Given the description of an element on the screen output the (x, y) to click on. 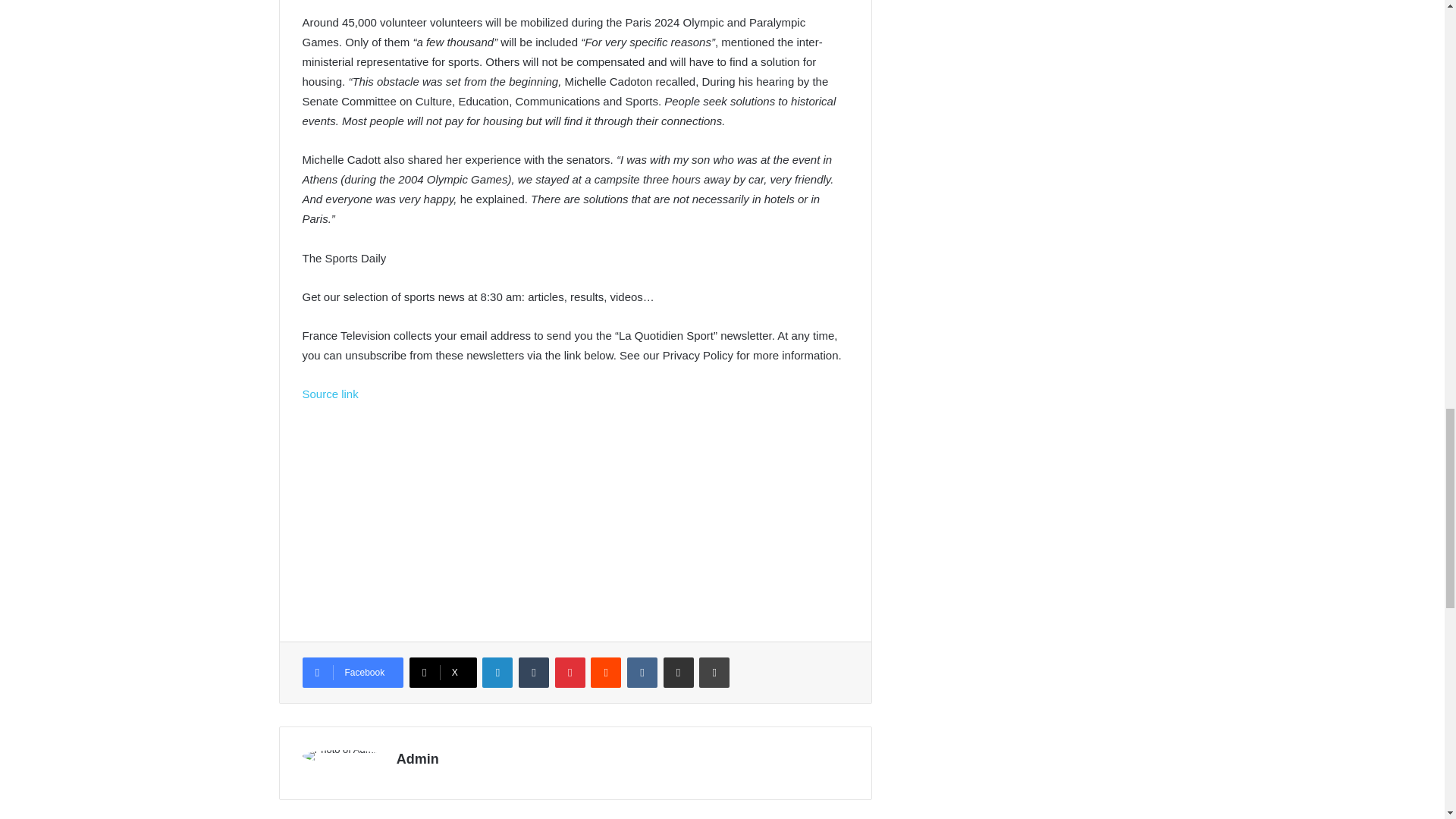
Share via Email (678, 672)
Facebook (352, 672)
X (443, 672)
Tumblr (533, 672)
VKontakte (642, 672)
Facebook (352, 672)
LinkedIn (496, 672)
Print (713, 672)
Admin (417, 758)
Tumblr (533, 672)
